Given the description of an element on the screen output the (x, y) to click on. 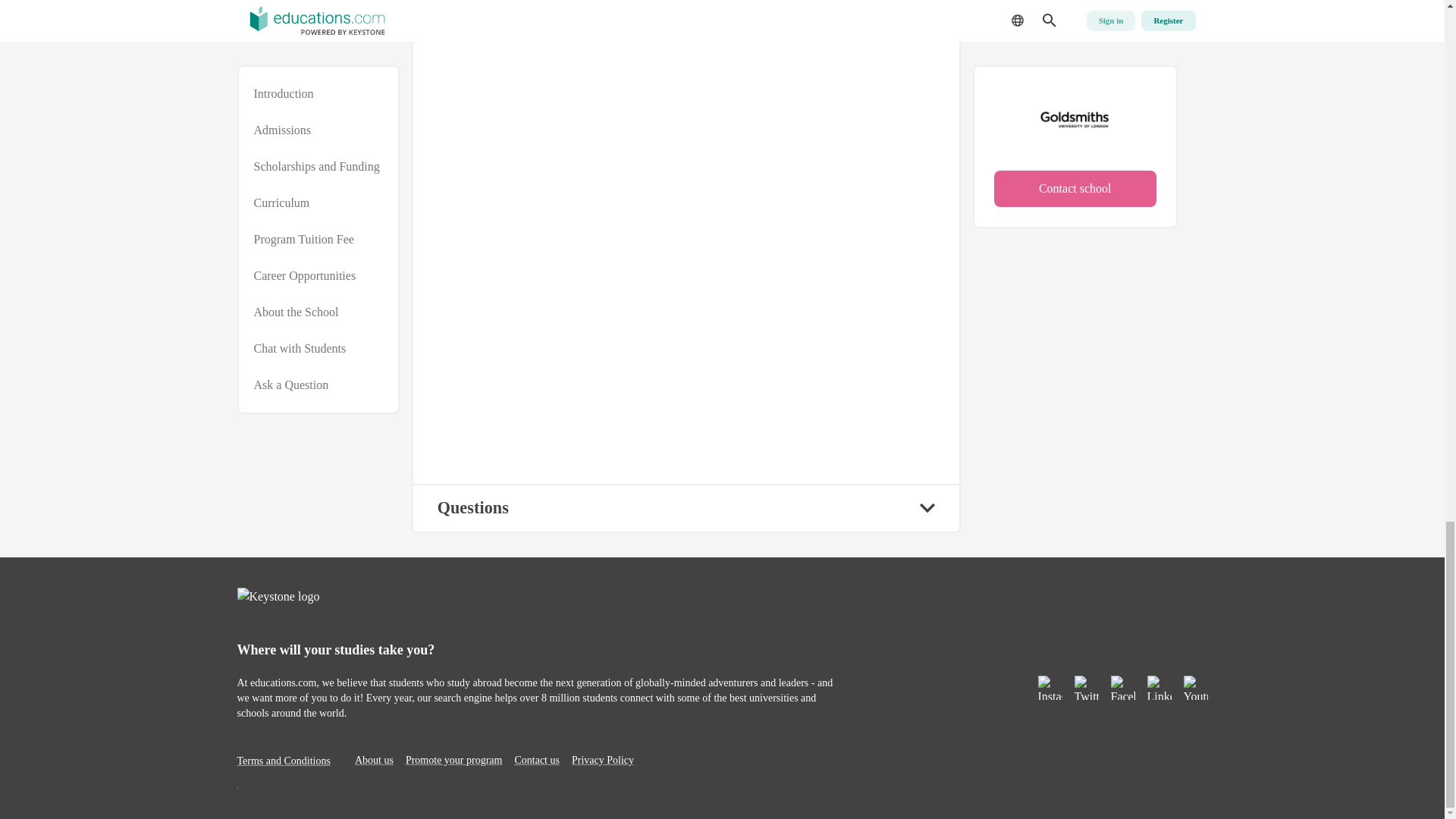
Contact us (536, 759)
Privacy Policy (602, 759)
Promote your program (454, 759)
About us (374, 759)
Terms and Conditions (282, 760)
